Given the description of an element on the screen output the (x, y) to click on. 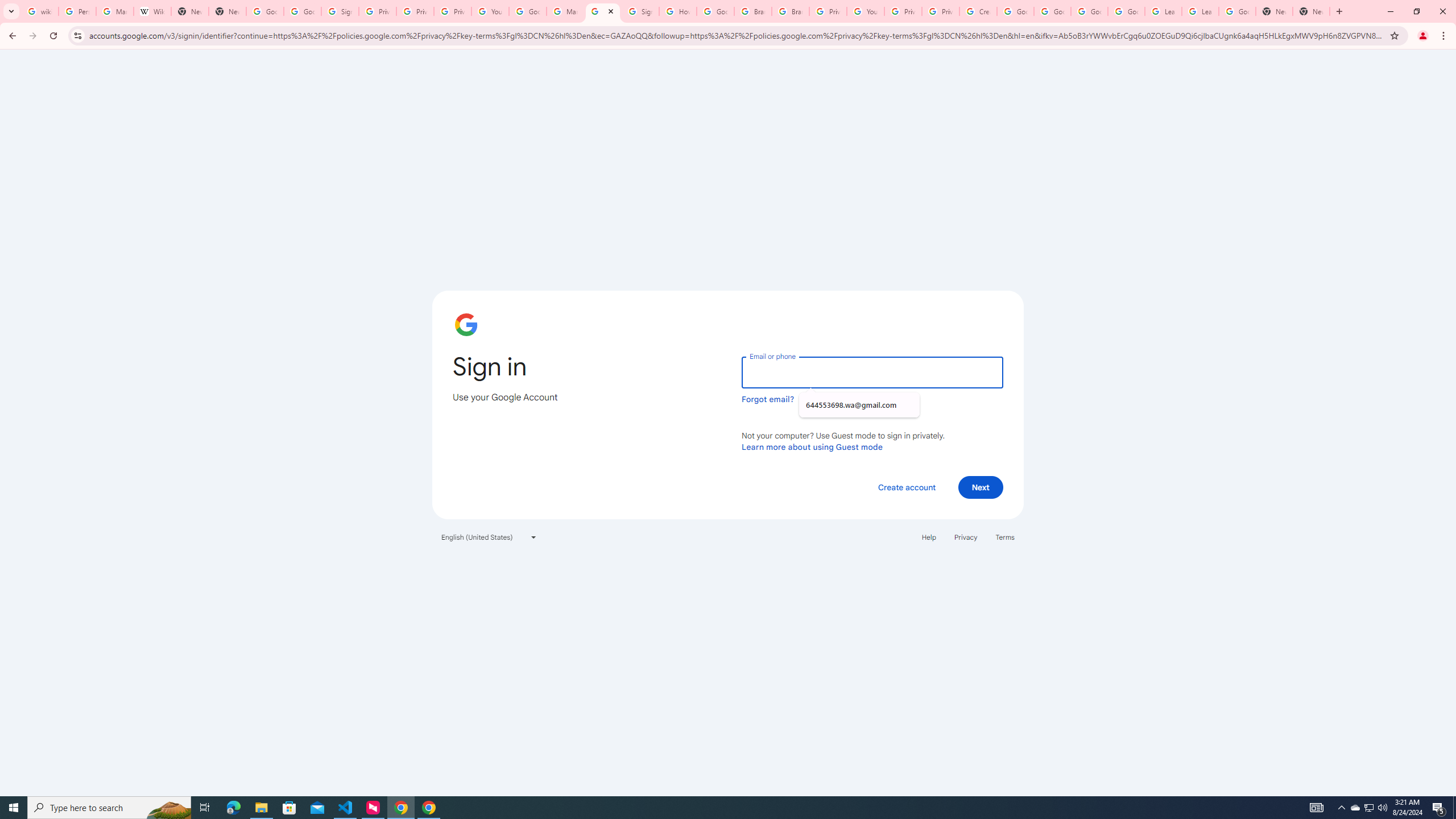
New Tab (1338, 11)
You (1422, 35)
Google Account (1237, 11)
New Tab (1311, 11)
Google Account Help (527, 11)
Manage your Location History - Google Search Help (114, 11)
Google Drive: Sign-in (302, 11)
Minimize (1390, 11)
Create your Google Account (977, 11)
Back (10, 35)
